Given the description of an element on the screen output the (x, y) to click on. 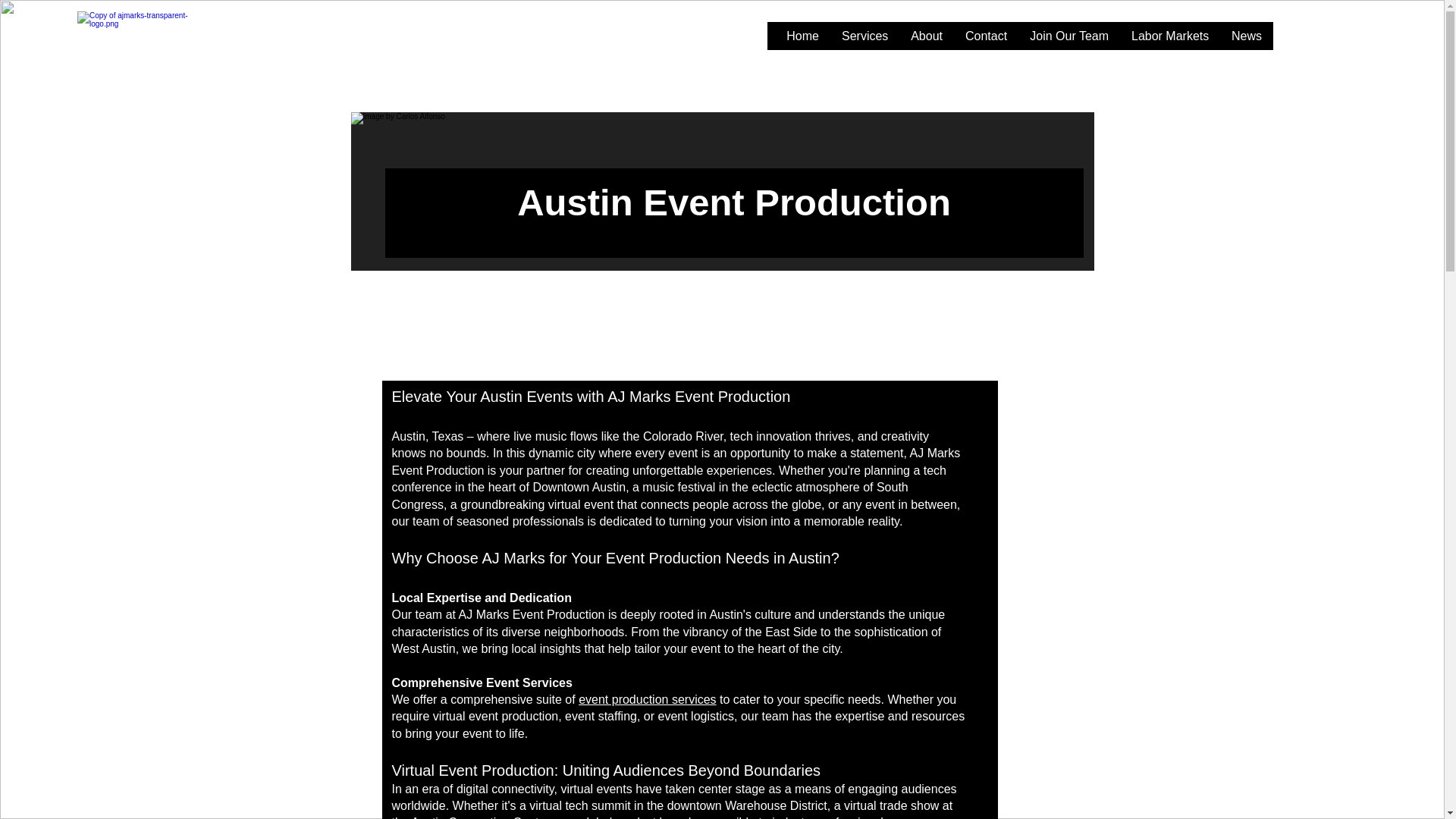
Services (864, 40)
Contact (985, 40)
Join Our Team (1068, 40)
Home (801, 40)
Labor Markets (1169, 40)
event production services (647, 698)
News (1246, 40)
About (926, 40)
